Given the description of an element on the screen output the (x, y) to click on. 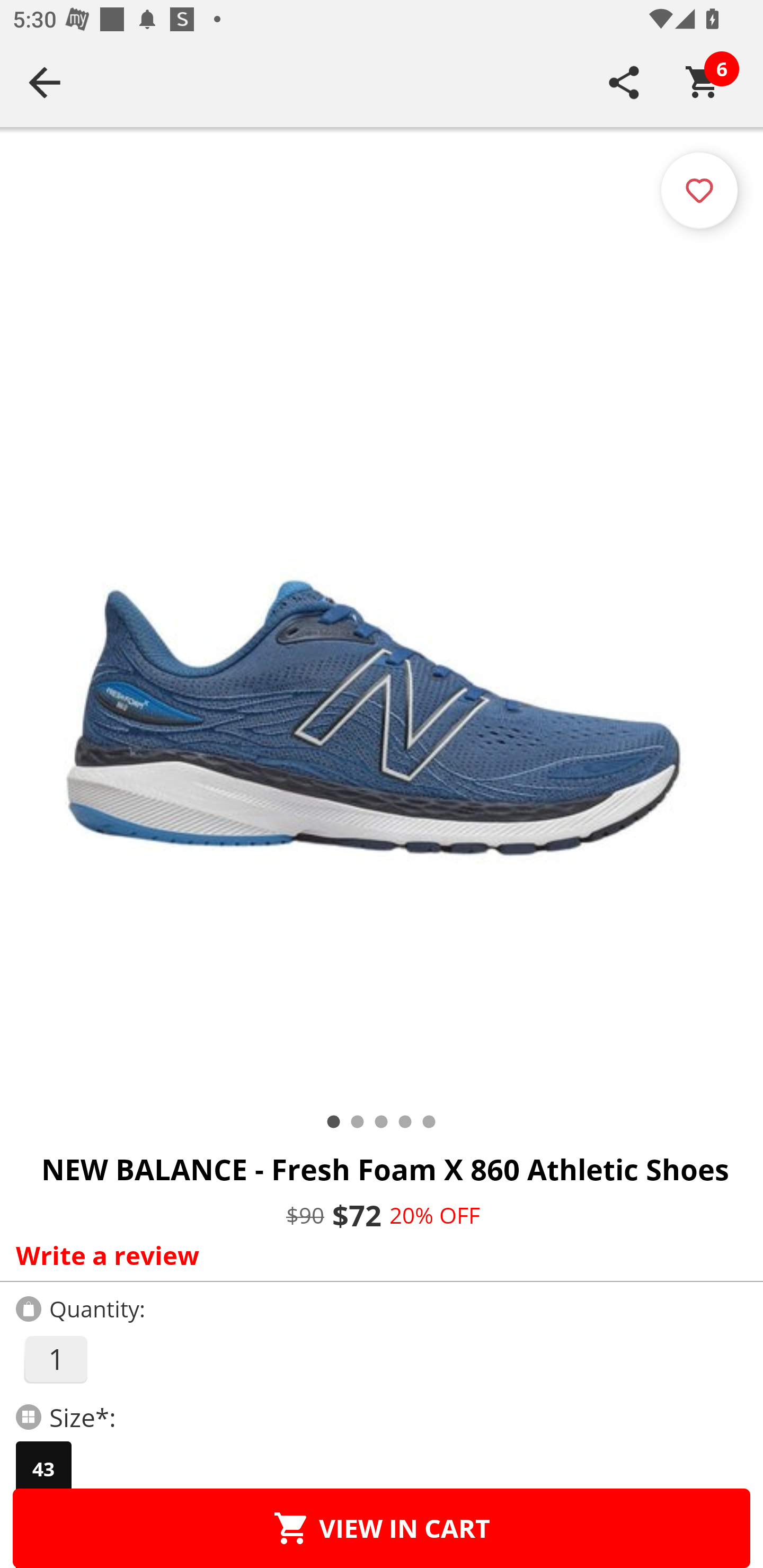
Navigate up (44, 82)
SHARE (623, 82)
Cart (703, 81)
Write a review (377, 1255)
1 (55, 1358)
43 (43, 1468)
VIEW IN CART (381, 1528)
